Given the description of an element on the screen output the (x, y) to click on. 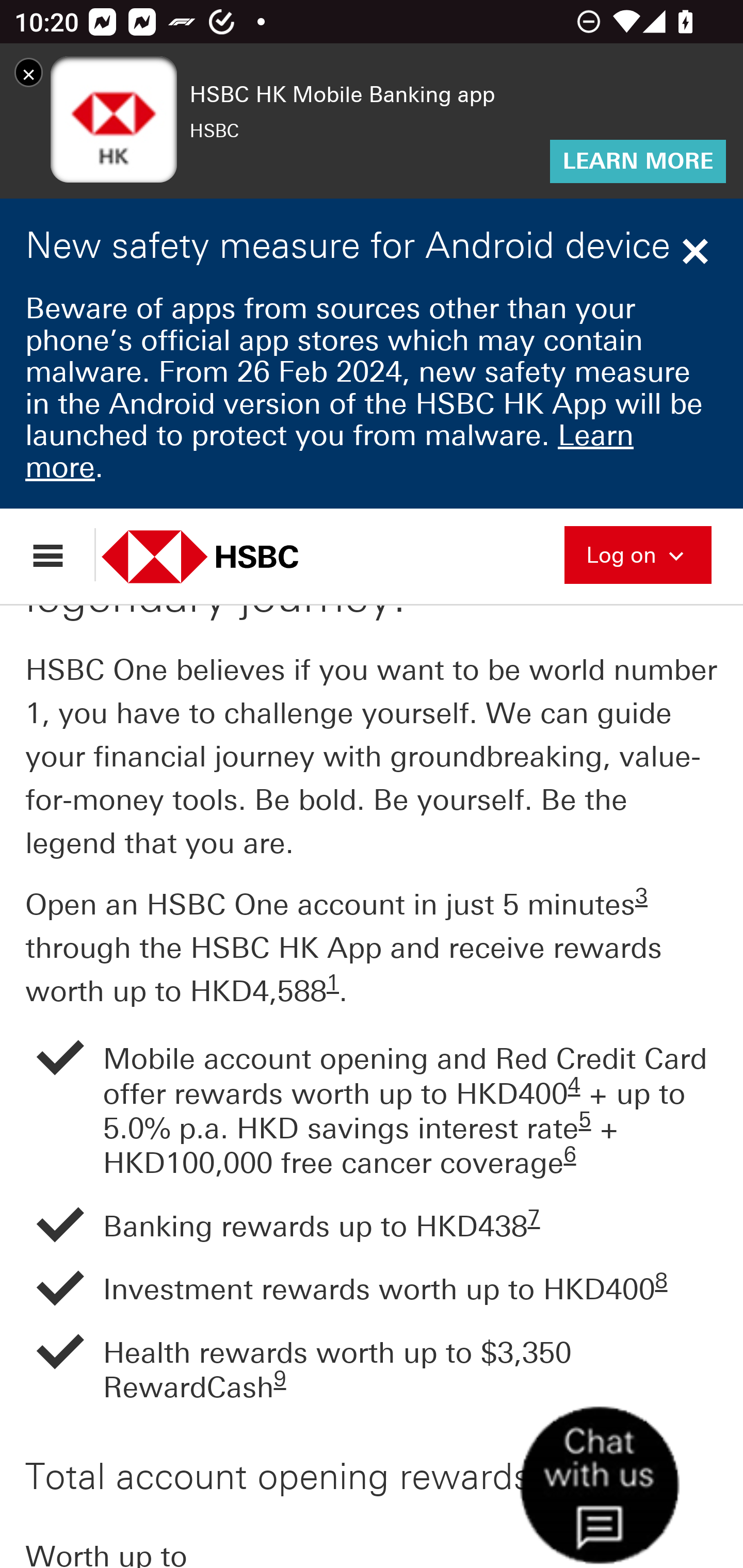
X (28, 74)
LEARN MORE (638, 163)
Close (697, 253)
Learn more (329, 452)
Log on Collapsed (638, 554)
Open menu (57, 556)
HSBC Hong Kong Bank (221, 557)
